Given the description of an element on the screen output the (x, y) to click on. 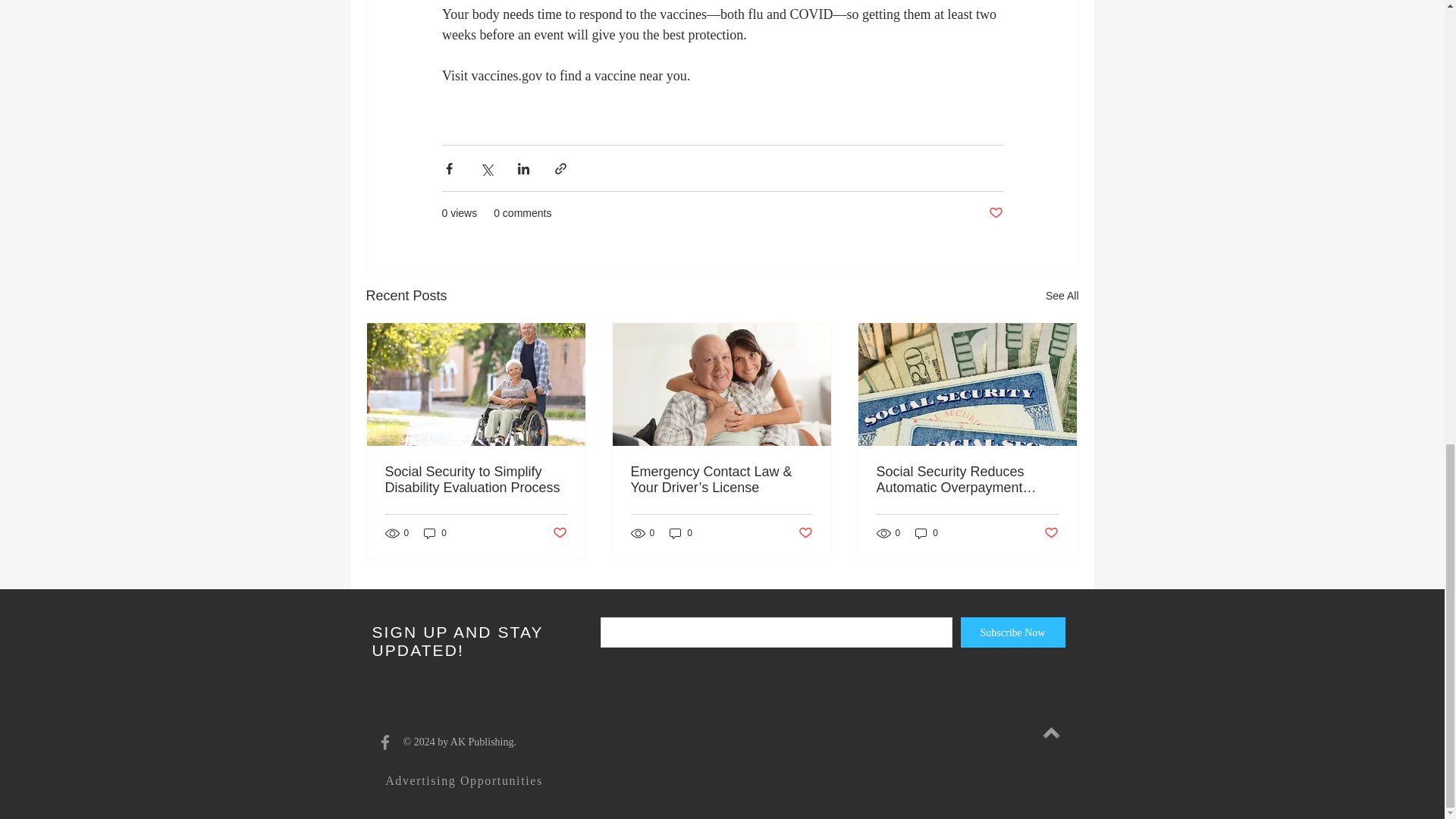
Social Security to Simplify Disability Evaluation Process (476, 480)
0 (435, 533)
Post not marked as liked (1050, 533)
Post not marked as liked (804, 533)
0 (681, 533)
0 (926, 533)
See All (1061, 296)
Post not marked as liked (558, 533)
Post not marked as liked (995, 213)
